Given the description of an element on the screen output the (x, y) to click on. 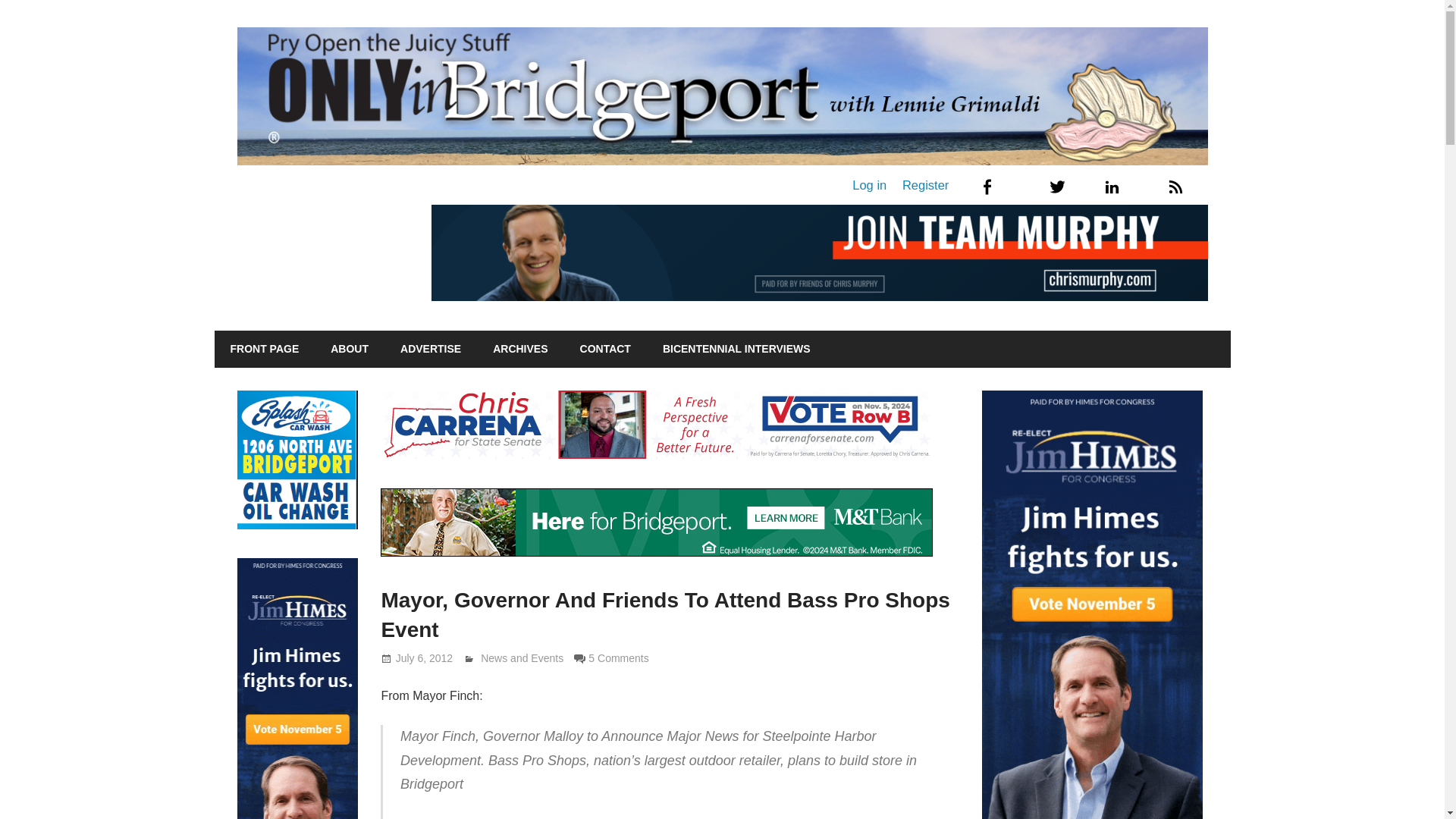
News and Events (521, 657)
Register (925, 184)
BICENTENNIAL INTERVIEWS (736, 349)
Lennie Grimaldi (517, 657)
CONTACT (605, 349)
July 6, 2012 (424, 657)
FRONT PAGE (264, 349)
ABOUT (349, 349)
2:59 am (424, 657)
ADVERTISE (430, 349)
